Given the description of an element on the screen output the (x, y) to click on. 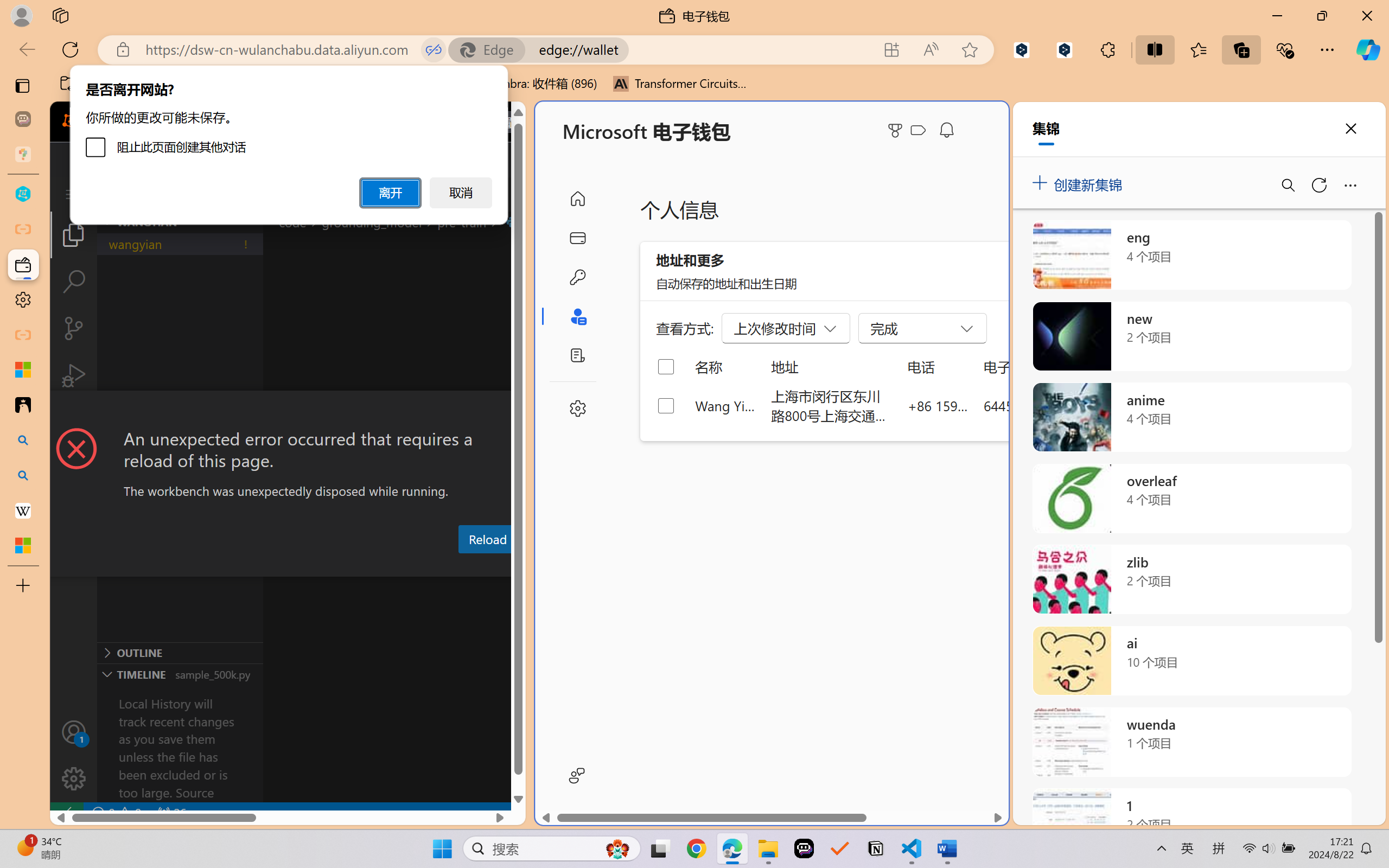
Class: ___1lmltc5 f1agt3bx f12qytpq (917, 130)
Close Dialog (520, 410)
